Given the description of an element on the screen output the (x, y) to click on. 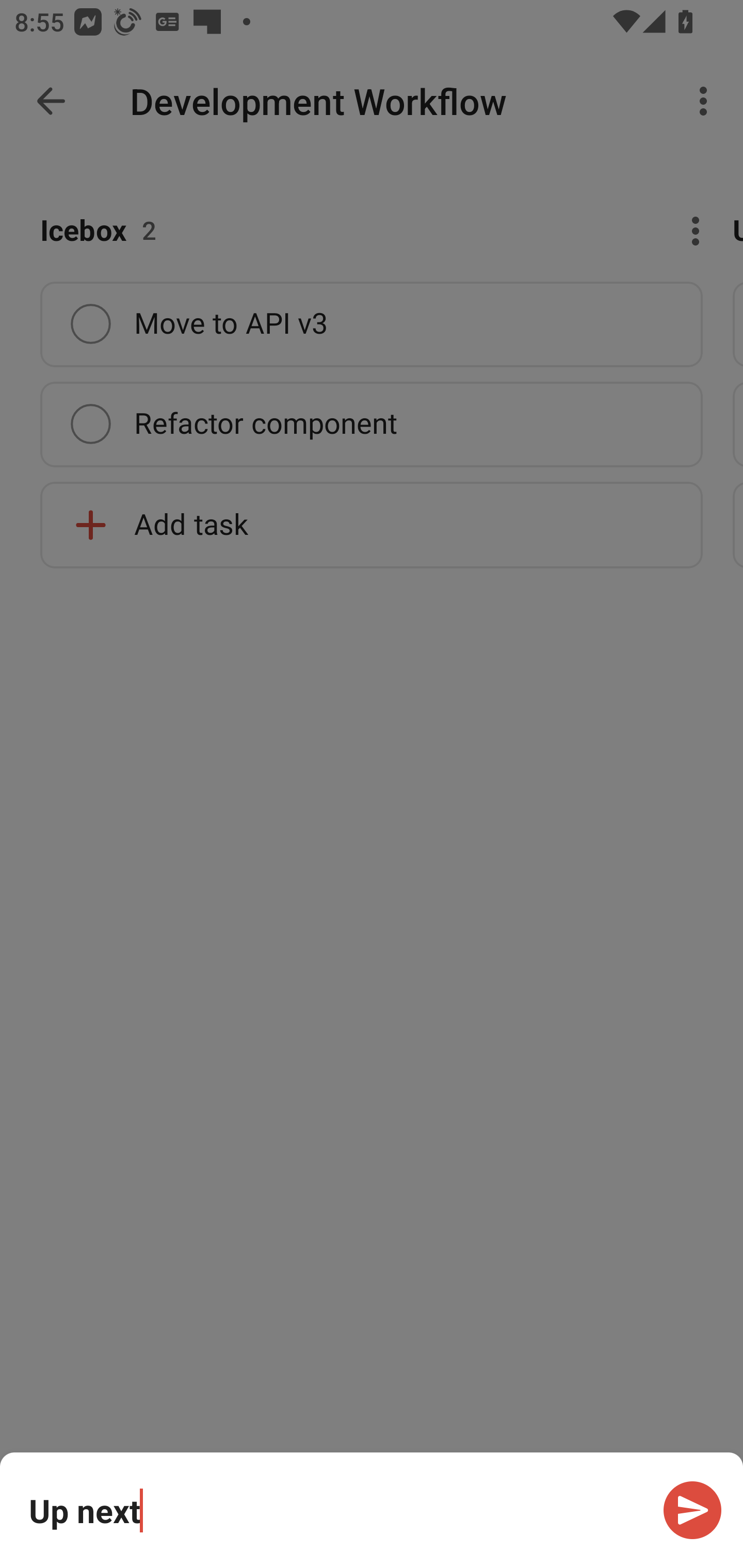
Submit (692, 1510)
Up next (334, 1509)
